Given the description of an element on the screen output the (x, y) to click on. 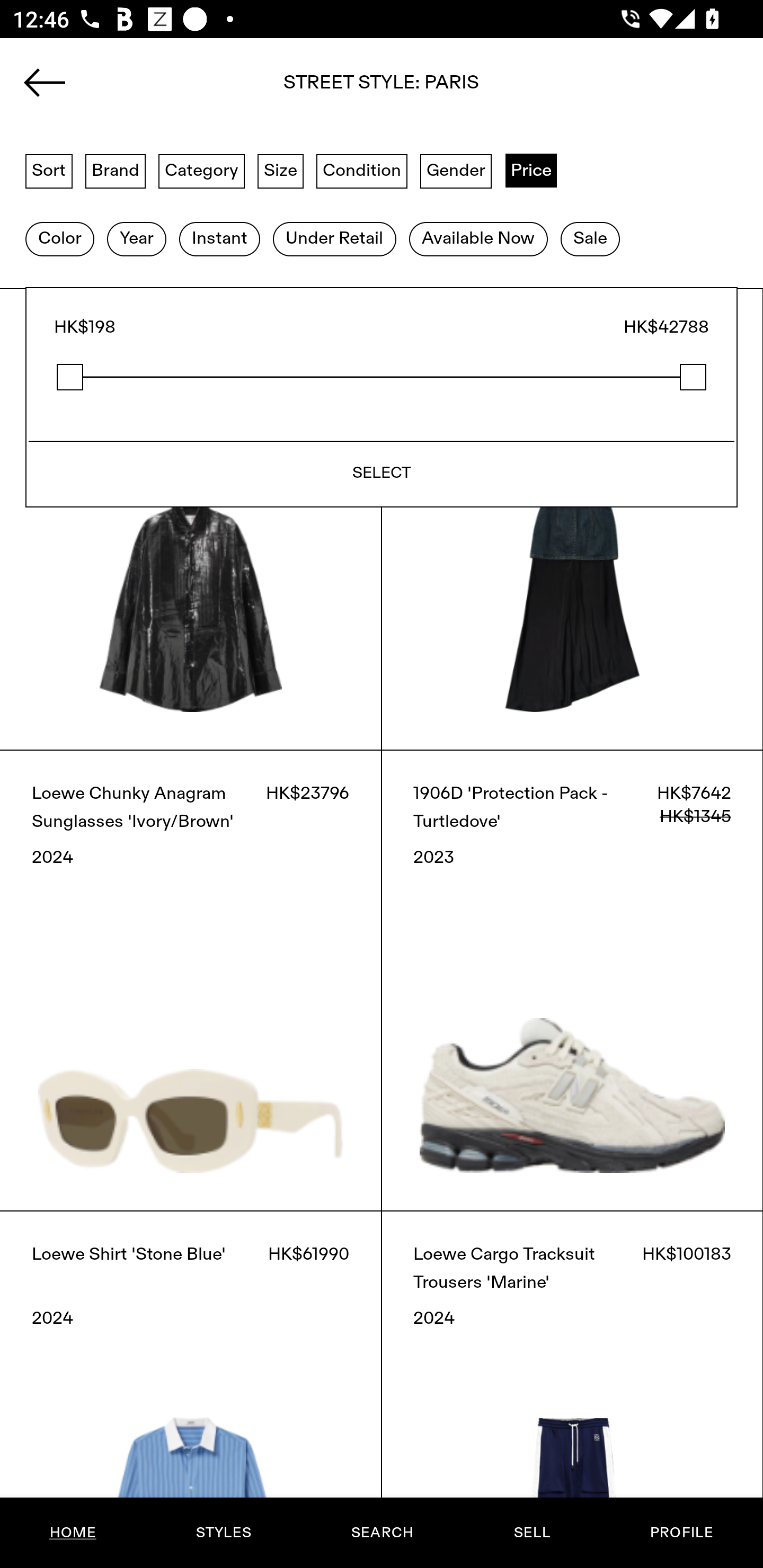
Search (381, 88)
Sort (48, 170)
Brand (115, 170)
Category (201, 170)
Size (280, 170)
Condition (361, 170)
Gender (455, 170)
Price (530, 170)
Color (59, 239)
Year (136, 239)
Instant (219, 239)
Under Retail (334, 239)
Available Now (477, 239)
Sale (589, 239)
198.0 Range start,198 42788.0 Range end,42788 (381, 376)
SELECT (381, 473)
Loewe Shirt 'Stone Blue' HK$61990 2024 (190, 1389)
HOME (72, 1532)
STYLES (222, 1532)
SEARCH (381, 1532)
SELL (531, 1532)
PROFILE (681, 1532)
